Given the description of an element on the screen output the (x, y) to click on. 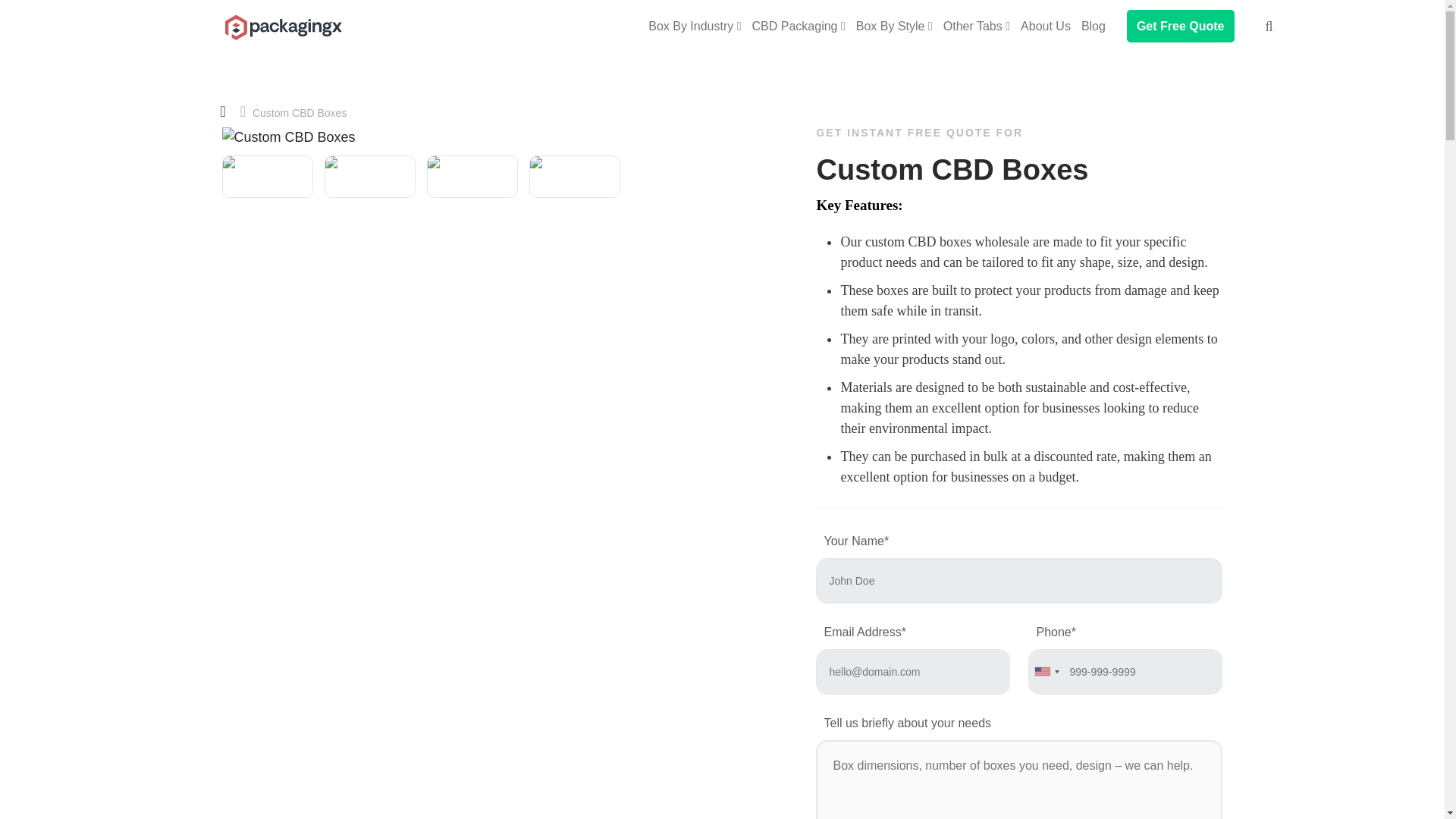
Other Tabs (976, 26)
Blog (1093, 26)
Custom CBD Boxes (281, 17)
Get Free Qoute (1180, 25)
Get Free Quote (1180, 25)
Box By Style (894, 26)
About Us (1045, 26)
CBD Packaging (799, 26)
Box By Industry (694, 26)
